Given the description of an element on the screen output the (x, y) to click on. 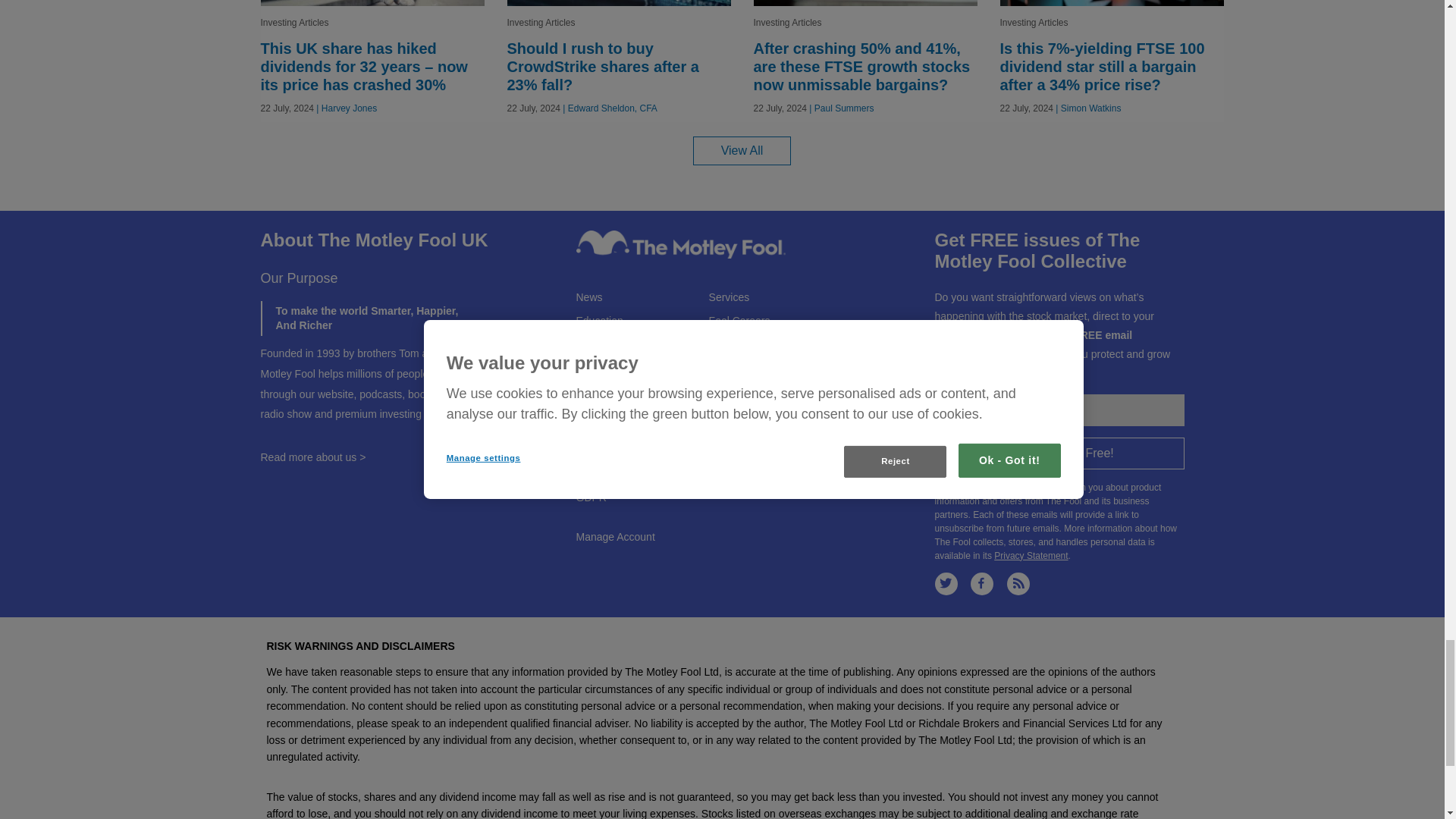
true (938, 485)
